Given the description of an element on the screen output the (x, y) to click on. 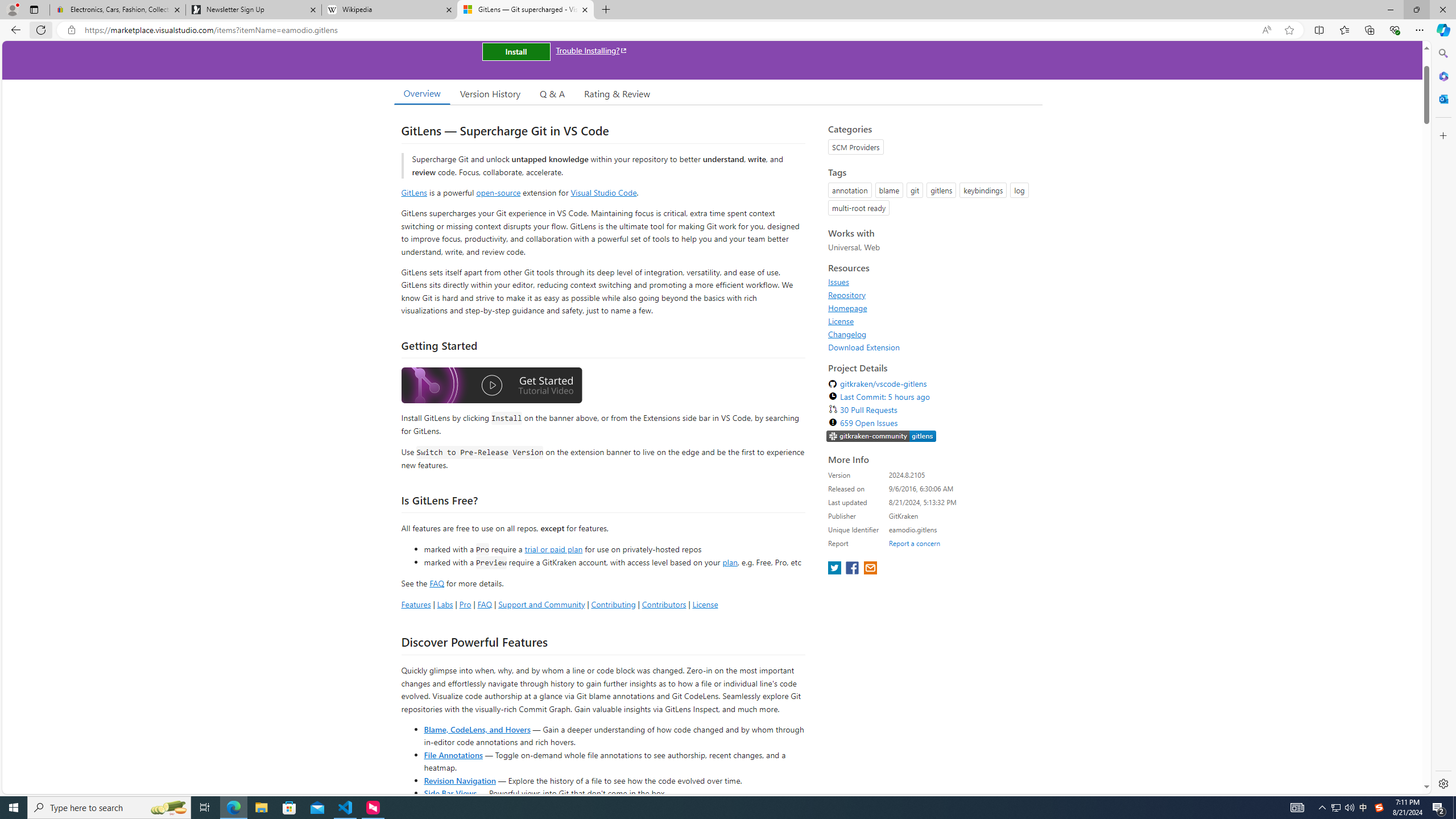
Watch the GitLens Getting Started video (491, 387)
Labs (444, 603)
GitLens (414, 192)
share extension on facebook (853, 568)
share extension on email (869, 568)
Features (415, 603)
Version History (489, 92)
